Given the description of an element on the screen output the (x, y) to click on. 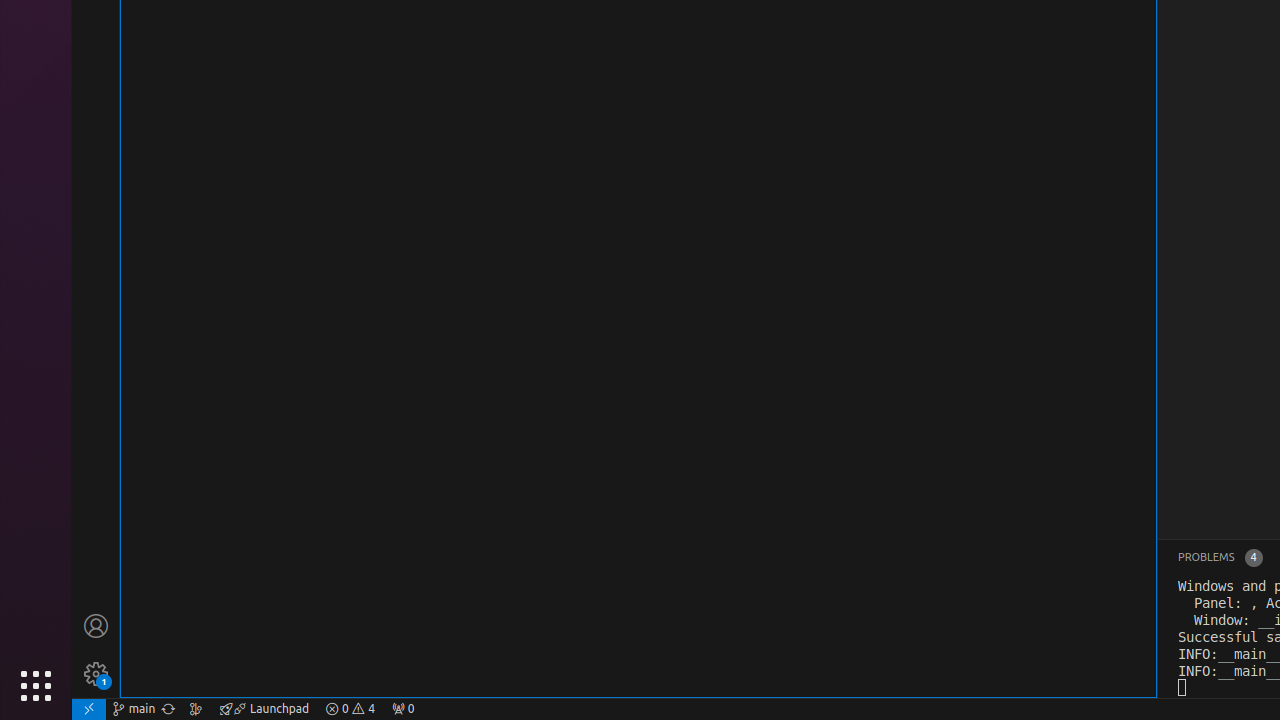
remote Element type: push-button (89, 709)
Problems (Ctrl+Shift+M) - Total 4 Problems Element type: page-tab (1219, 557)
No Ports Forwarded Element type: push-button (403, 709)
OSWorld (Git) - main, Checkout Branch/Tag... Element type: push-button (134, 709)
